Given the description of an element on the screen output the (x, y) to click on. 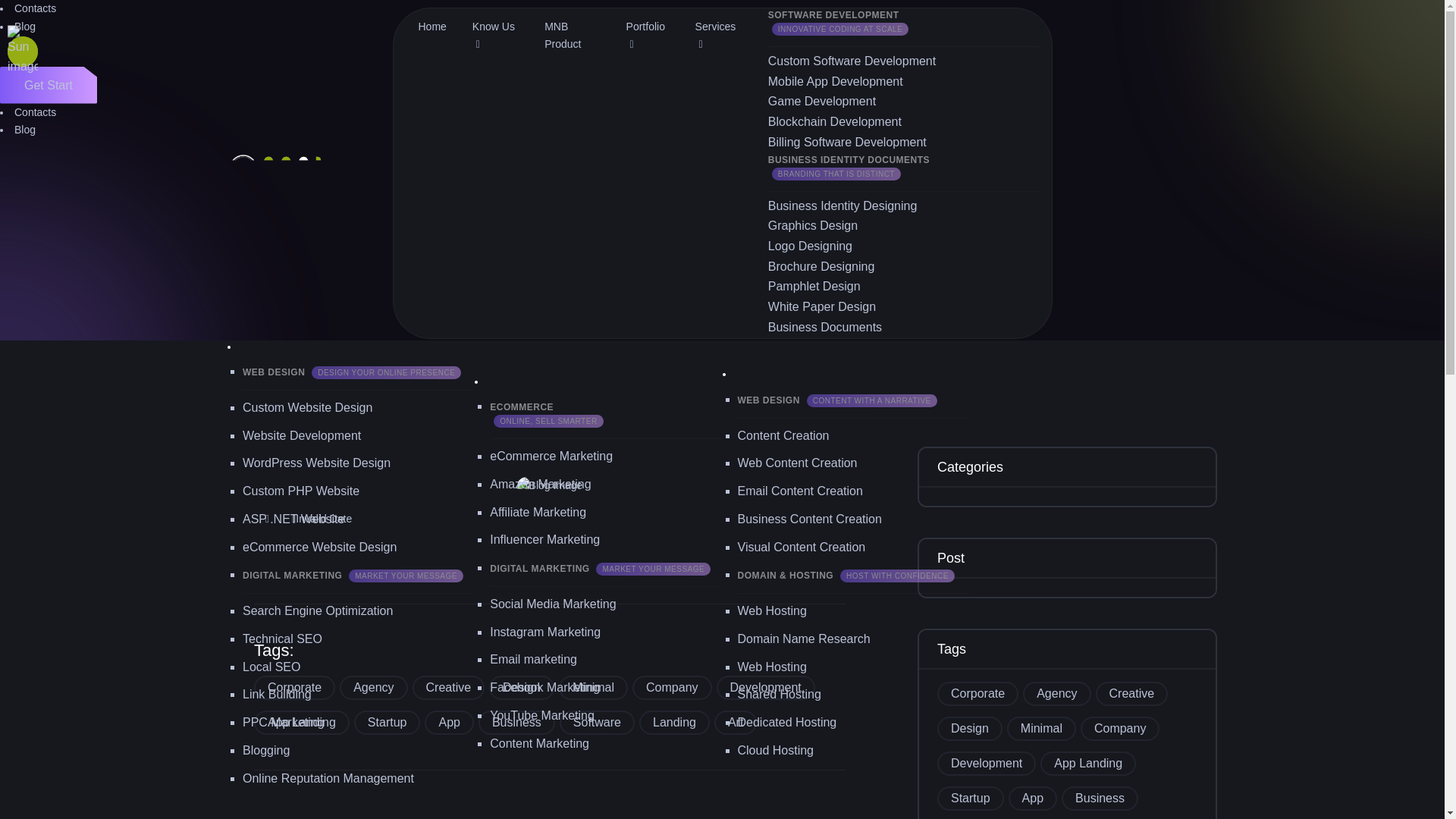
Custom Software Development (852, 60)
Link Building (277, 694)
Custom PHP Website (301, 490)
Website Development (302, 435)
Local SEO (271, 666)
Know Us (495, 35)
Technical SEO (282, 638)
Business Identity Designing (842, 205)
Blogging (266, 749)
Billing Software Development (847, 141)
